Given the description of an element on the screen output the (x, y) to click on. 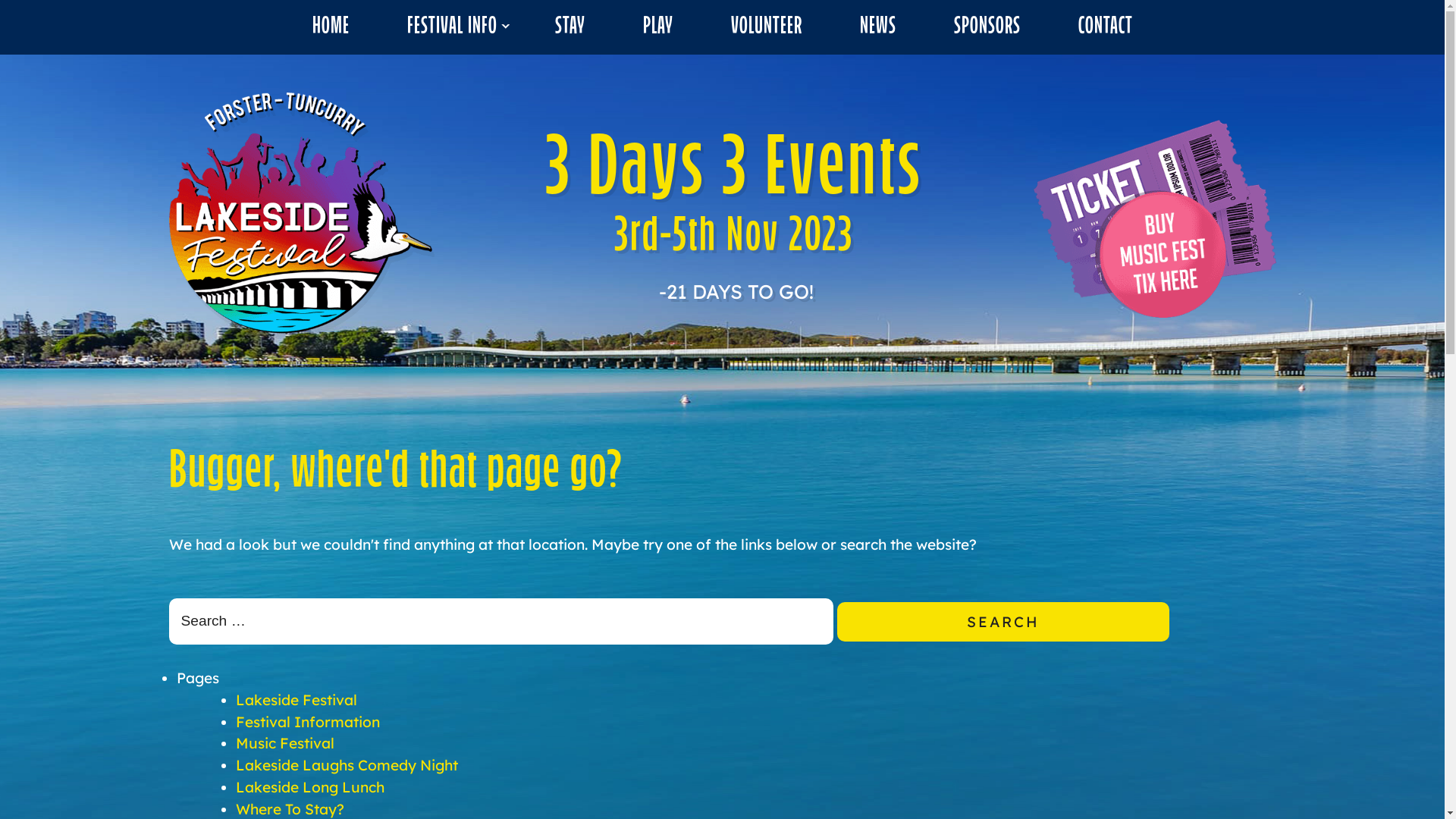
Lakeside Long Lunch Element type: text (309, 787)
CONTACT Element type: text (1105, 27)
Where To Stay? Element type: text (289, 809)
NEWS Element type: text (877, 27)
Search Element type: text (1003, 621)
Music Festival Element type: text (284, 743)
SPONSORS Element type: text (986, 27)
FESTIVAL INFO Element type: text (451, 27)
Lakeside Laughs Comedy Night Element type: text (346, 765)
Lakeside Festival Element type: text (296, 699)
HOME Element type: text (330, 27)
VOLUNTEER Element type: text (766, 27)
PLAY Element type: text (657, 27)
Festival Information Element type: text (307, 721)
STAY Element type: text (569, 27)
